Given the description of an element on the screen output the (x, y) to click on. 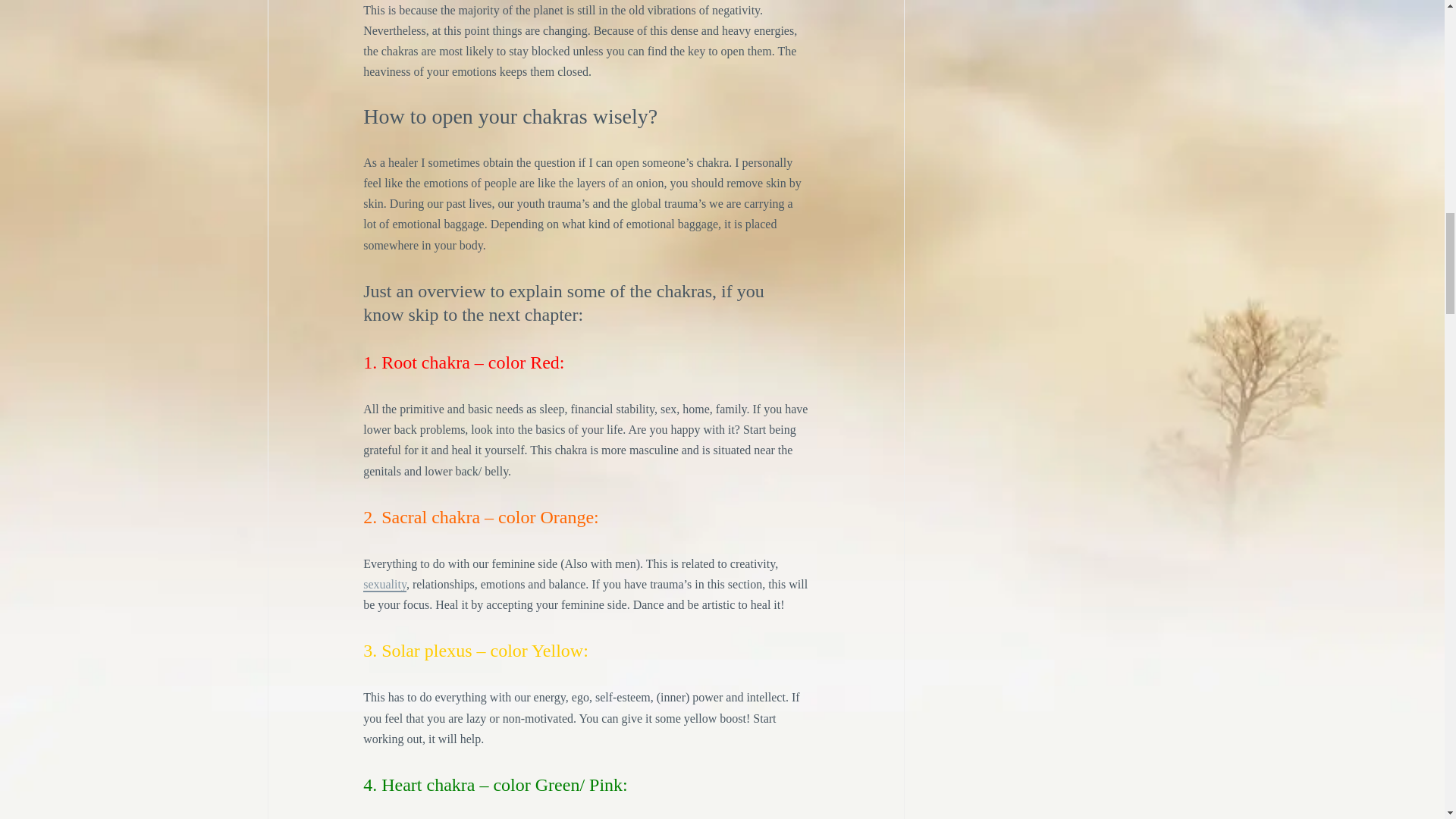
sexuality (384, 585)
